Given the description of an element on the screen output the (x, y) to click on. 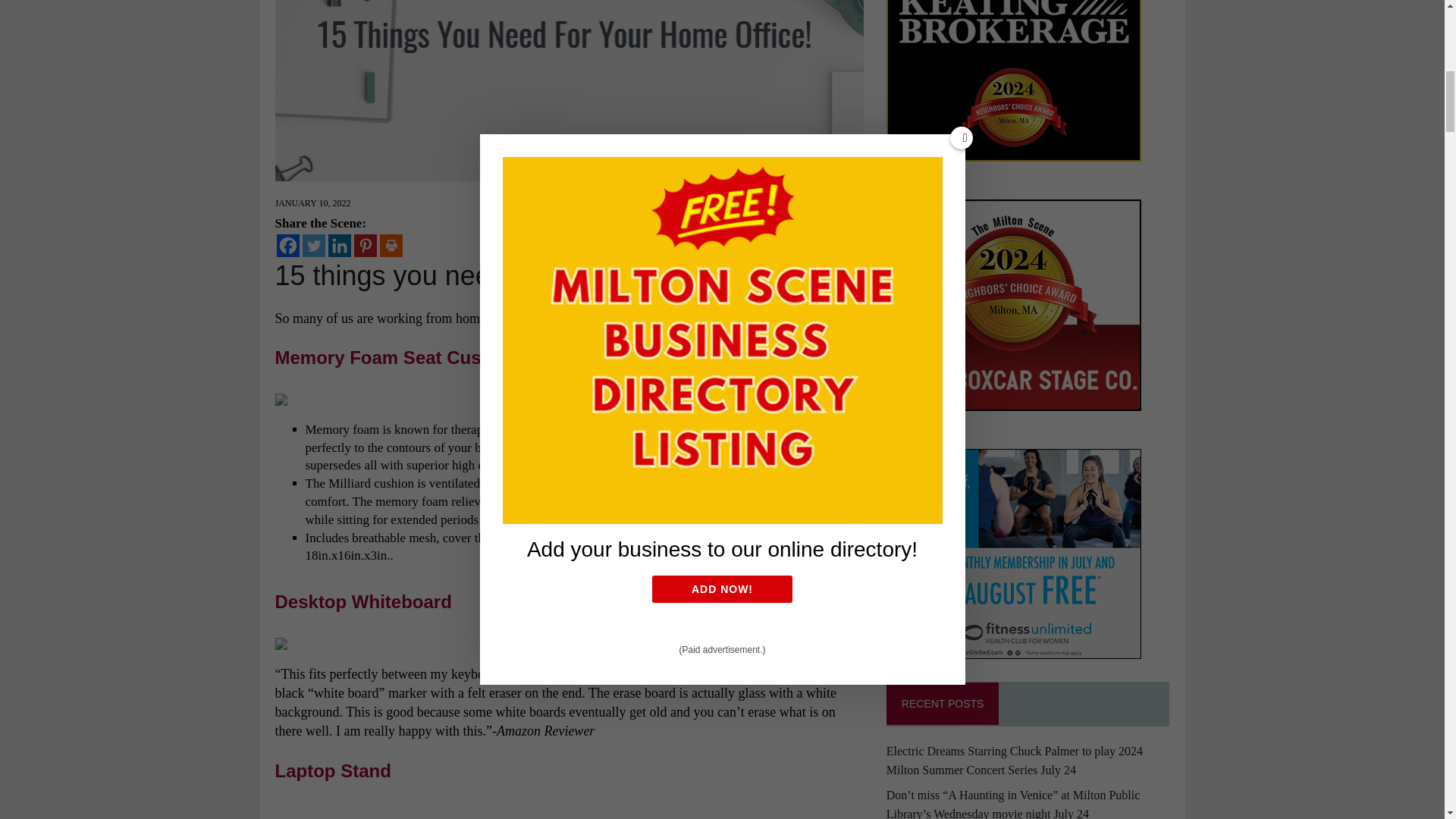
Pinterest (364, 245)
Linkedin (338, 245)
Twitter (312, 245)
Print (389, 245)
Facebook (287, 245)
